Given the description of an element on the screen output the (x, y) to click on. 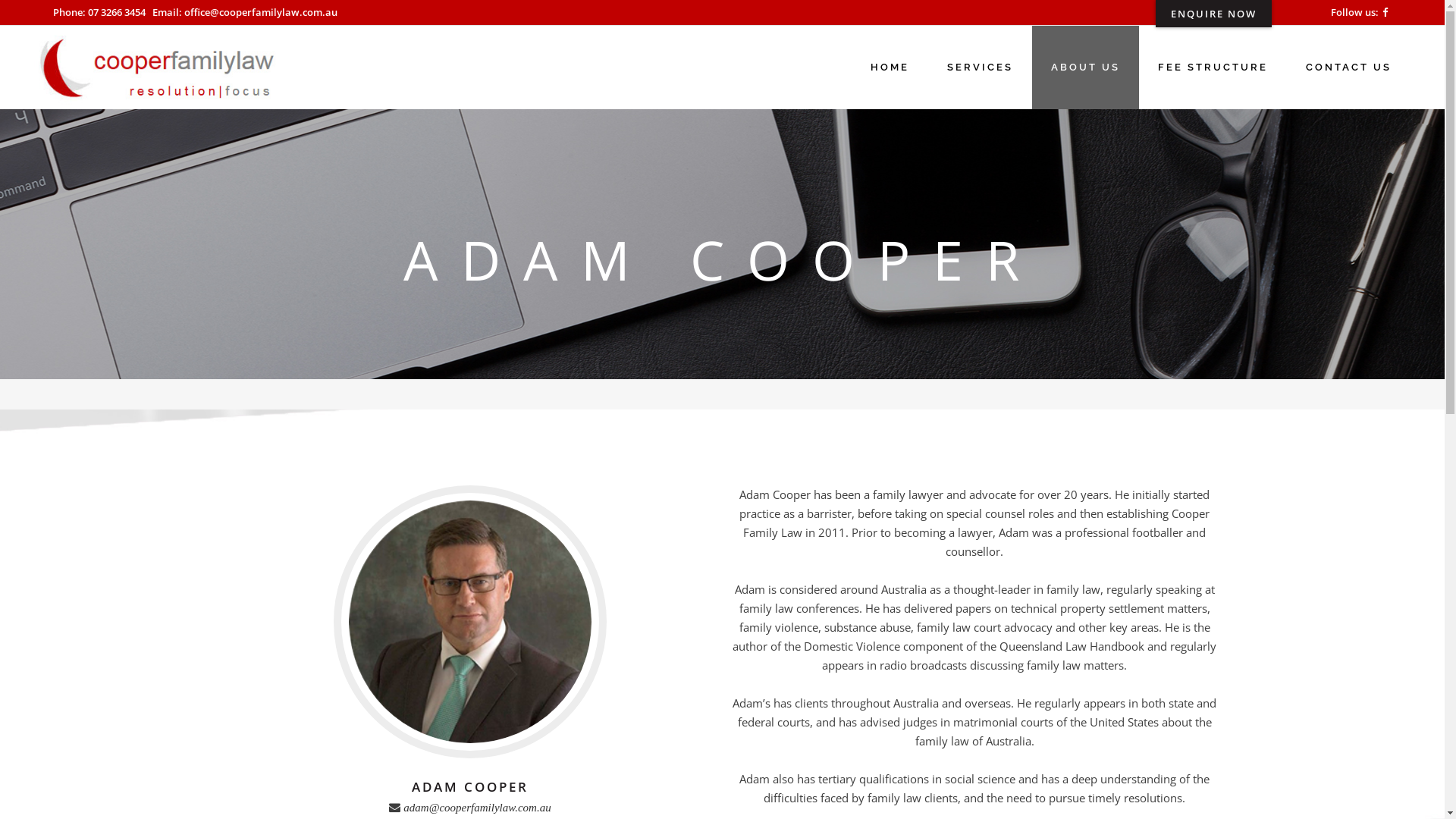
FEE STRUCTURE Element type: text (1212, 67)
adam@cooperfamilylaw.com.au Element type: text (476, 806)
ABOUT US Element type: text (1085, 67)
SERVICES Element type: text (980, 67)
: office@cooperfamilylaw.com.au Element type: text (257, 11)
: 07 3266 3454 Element type: text (113, 11)
HOME Element type: text (889, 67)
CONTACT US Element type: text (1348, 67)
